Given the description of an element on the screen output the (x, y) to click on. 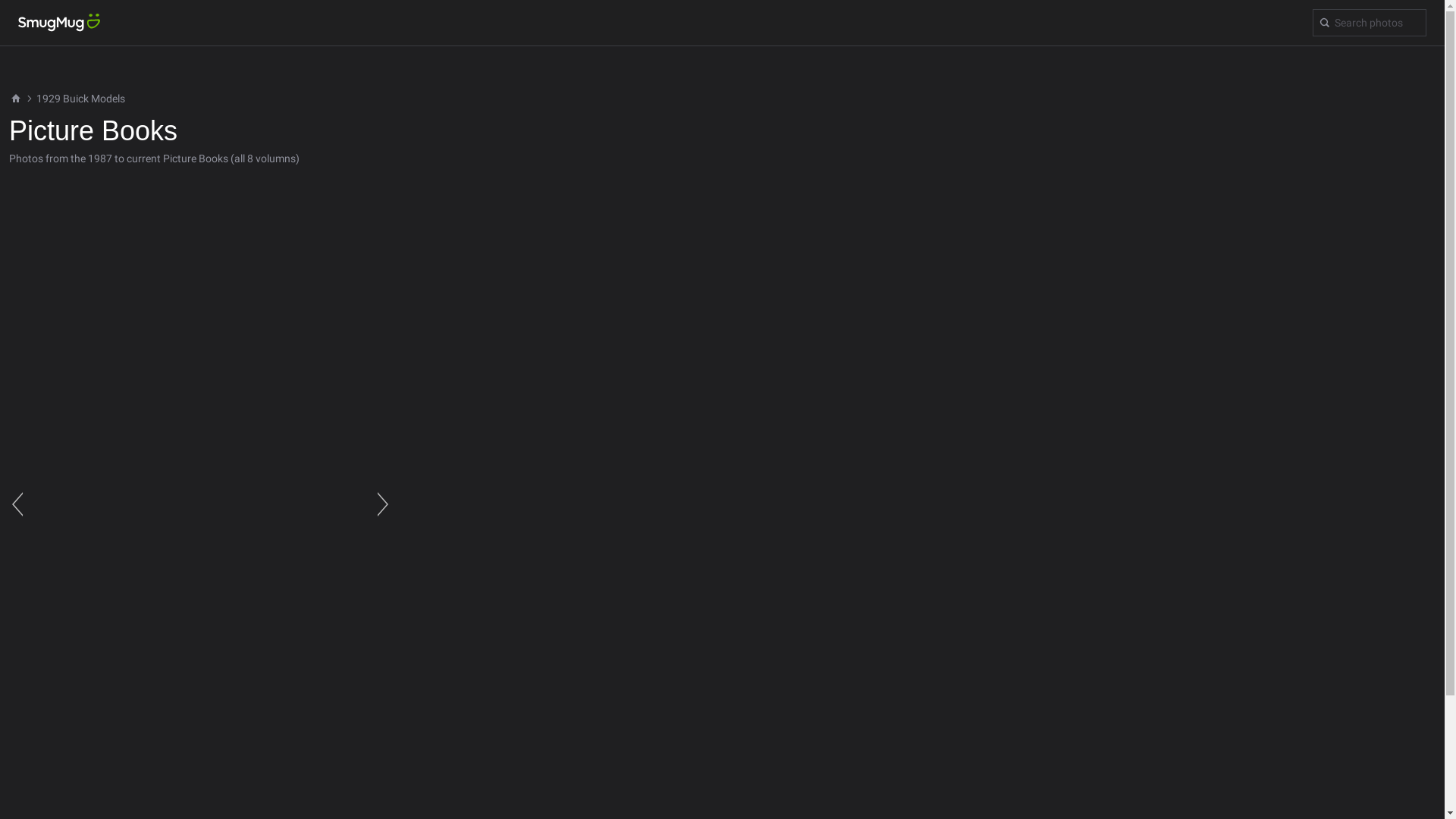
SmugMug Element type: hover (59, 22)
Search "Picture Books" for photos Element type: hover (1369, 22)
1929 Buick Models Element type: text (80, 98)
